Given the description of an element on the screen output the (x, y) to click on. 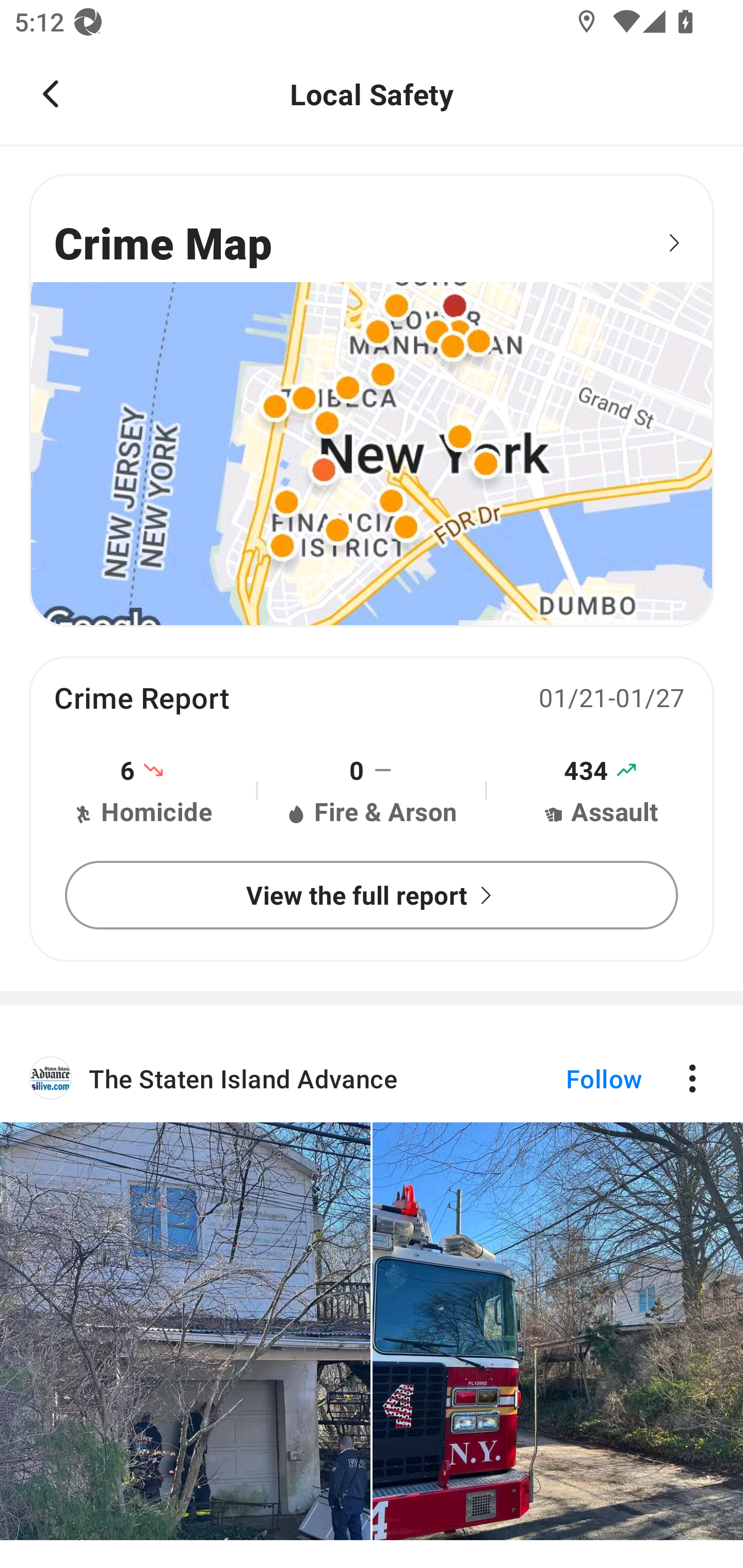
Navigate up (50, 93)
Crime Map (371, 400)
View the full report (371, 894)
The Staten Island Advance Follow (371, 1301)
The Staten Island Advance Follow (371, 1078)
Follow (569, 1078)
